Given the description of an element on the screen output the (x, y) to click on. 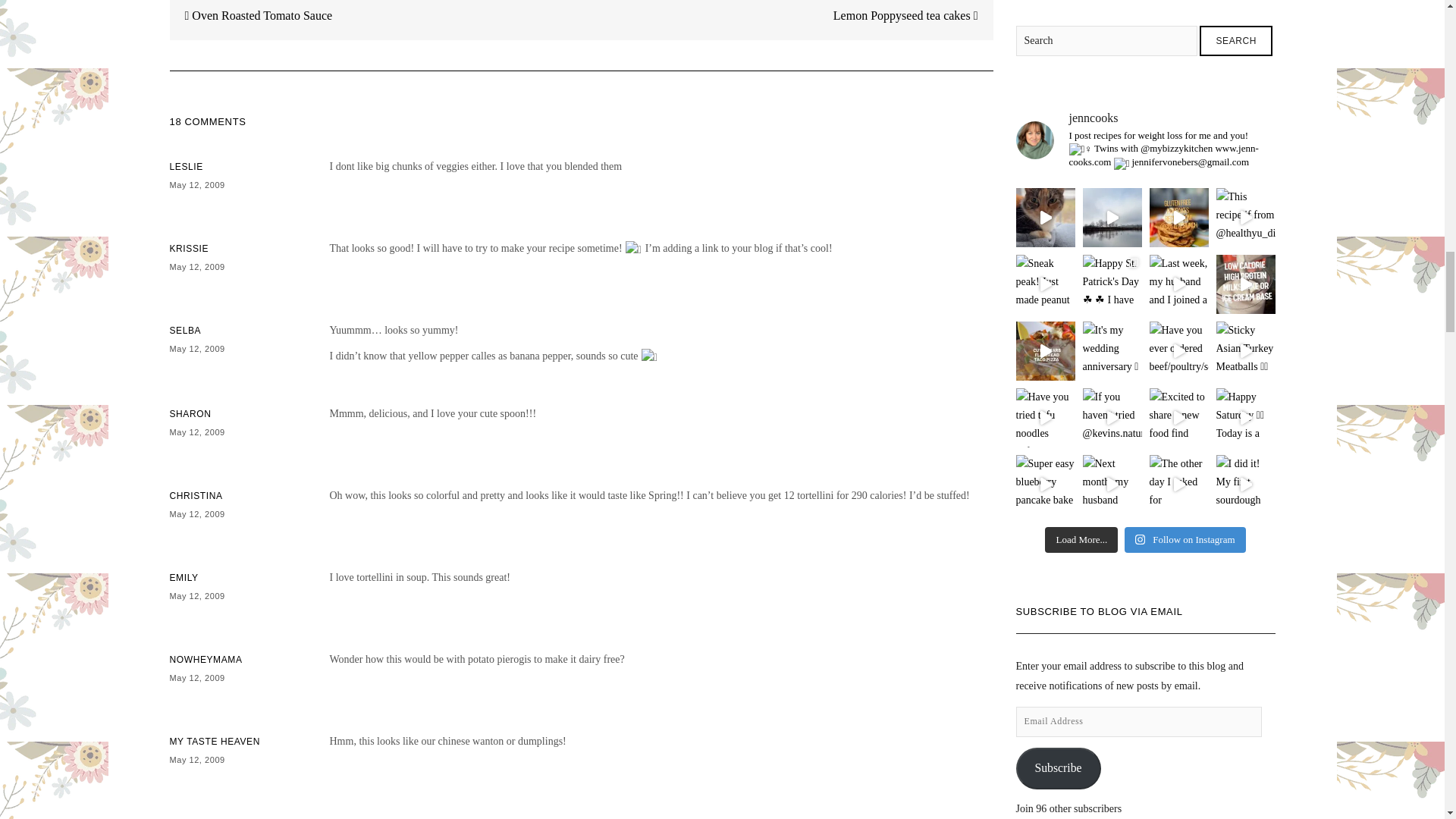
LESLIE (186, 166)
May 12, 2009 (197, 184)
SELBA (186, 330)
Lemon Poppyseed tea cakes (912, 20)
KRISSIE (189, 248)
Oven Roasted Tomato Sauce (251, 20)
May 12, 2009 (197, 266)
May 12, 2009 (197, 347)
